Given the description of an element on the screen output the (x, y) to click on. 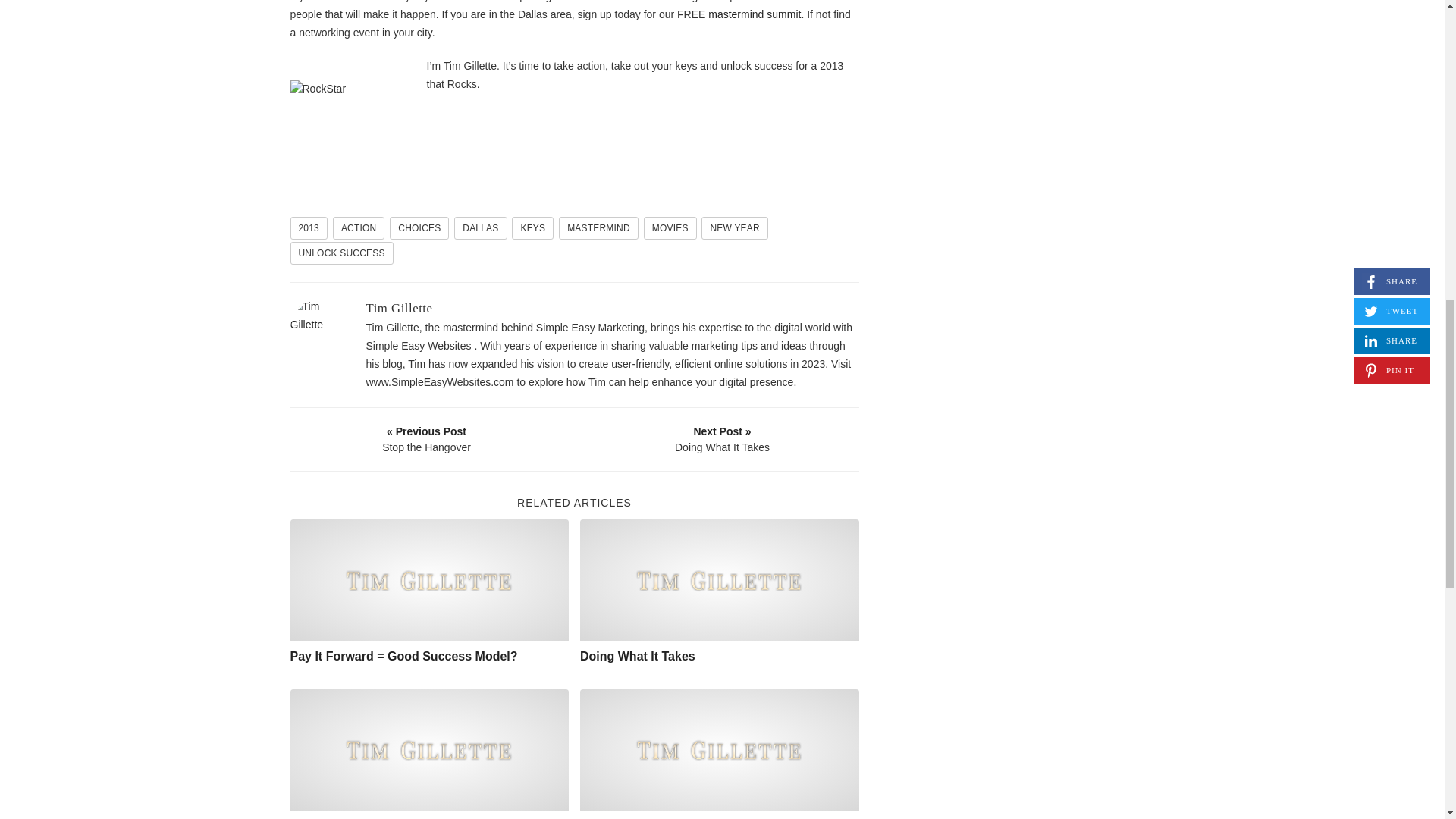
choices Tag (419, 228)
mastermind Tag (599, 228)
action Tag (359, 228)
mastermind summit (753, 14)
Keys to Change (429, 749)
UNLOCK SUCCESS (341, 252)
CHOICES (419, 228)
2013 (308, 228)
KEYS (532, 228)
new year Tag (734, 228)
